Given the description of an element on the screen output the (x, y) to click on. 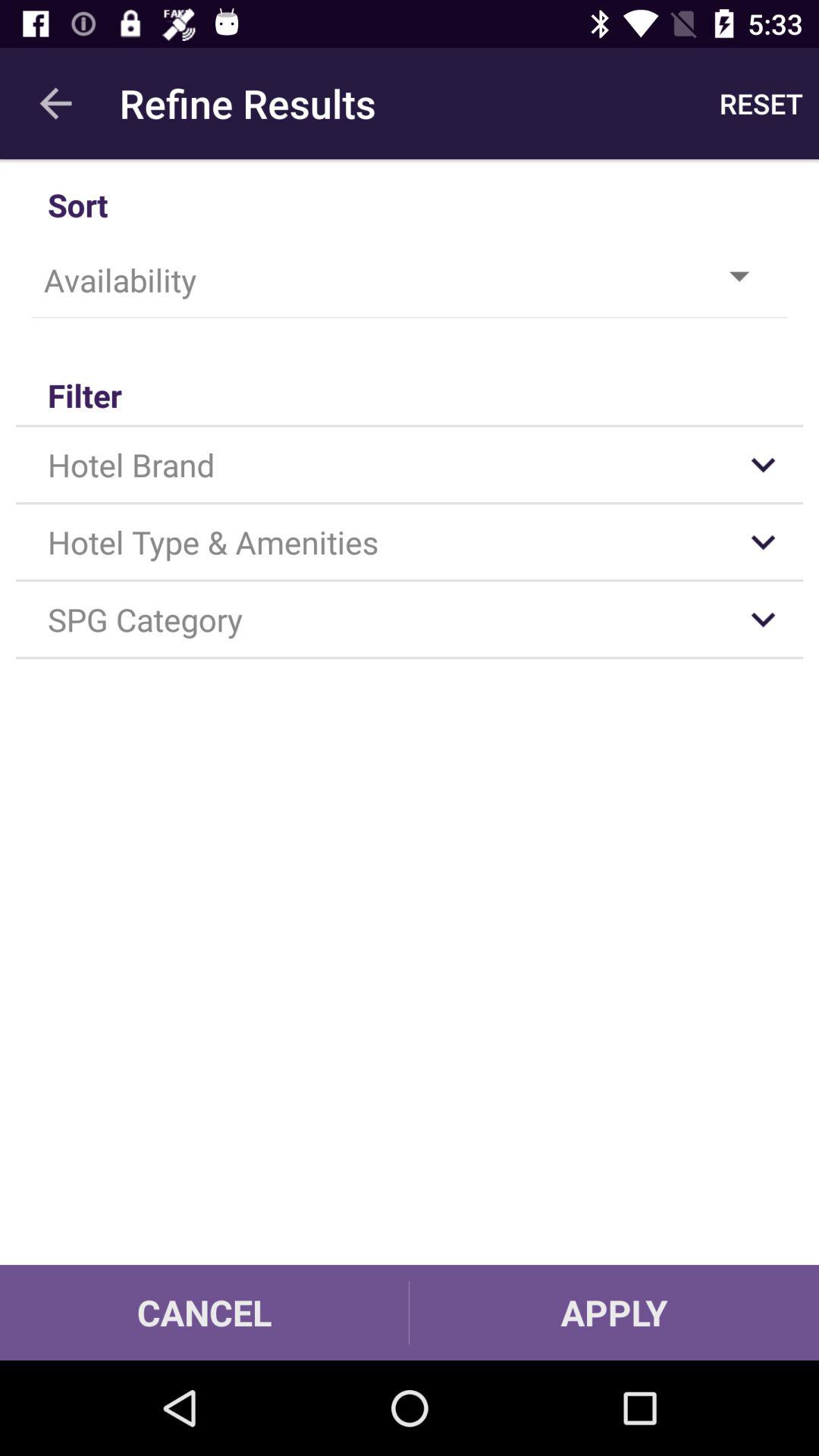
tap the item to the right of cancel (614, 1312)
